Given the description of an element on the screen output the (x, y) to click on. 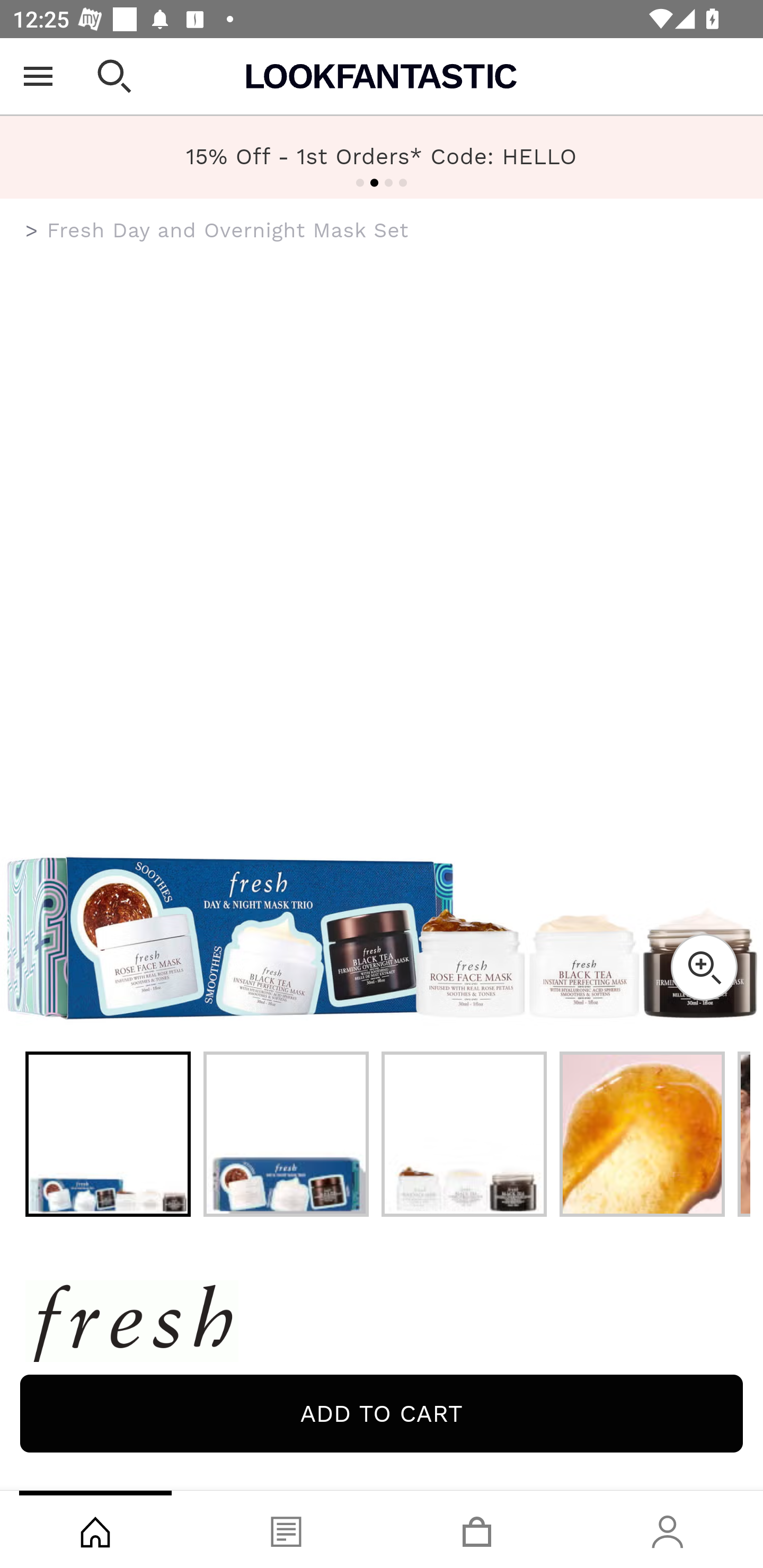
Open Menu (38, 75)
Open search (114, 75)
Lookfantastic USA (381, 75)
us.lookfantastic (32, 230)
Zoom (703, 966)
Open image 1 - Fresh Day and Overnight Mask Set (107, 1133)
Open image 2 - Fresh Day and Overnight Mask Set (285, 1133)
Open image 3 - Fresh Day and Overnight Mask Set (464, 1133)
Open image 4 - Fresh Day and Overnight Mask Set (641, 1133)
Fresh (381, 1323)
Add to cart (381, 1413)
Shop, tab, 1 of 4 (95, 1529)
Blog, tab, 2 of 4 (285, 1529)
Basket, tab, 3 of 4 (476, 1529)
Account, tab, 4 of 4 (667, 1529)
